Given the description of an element on the screen output the (x, y) to click on. 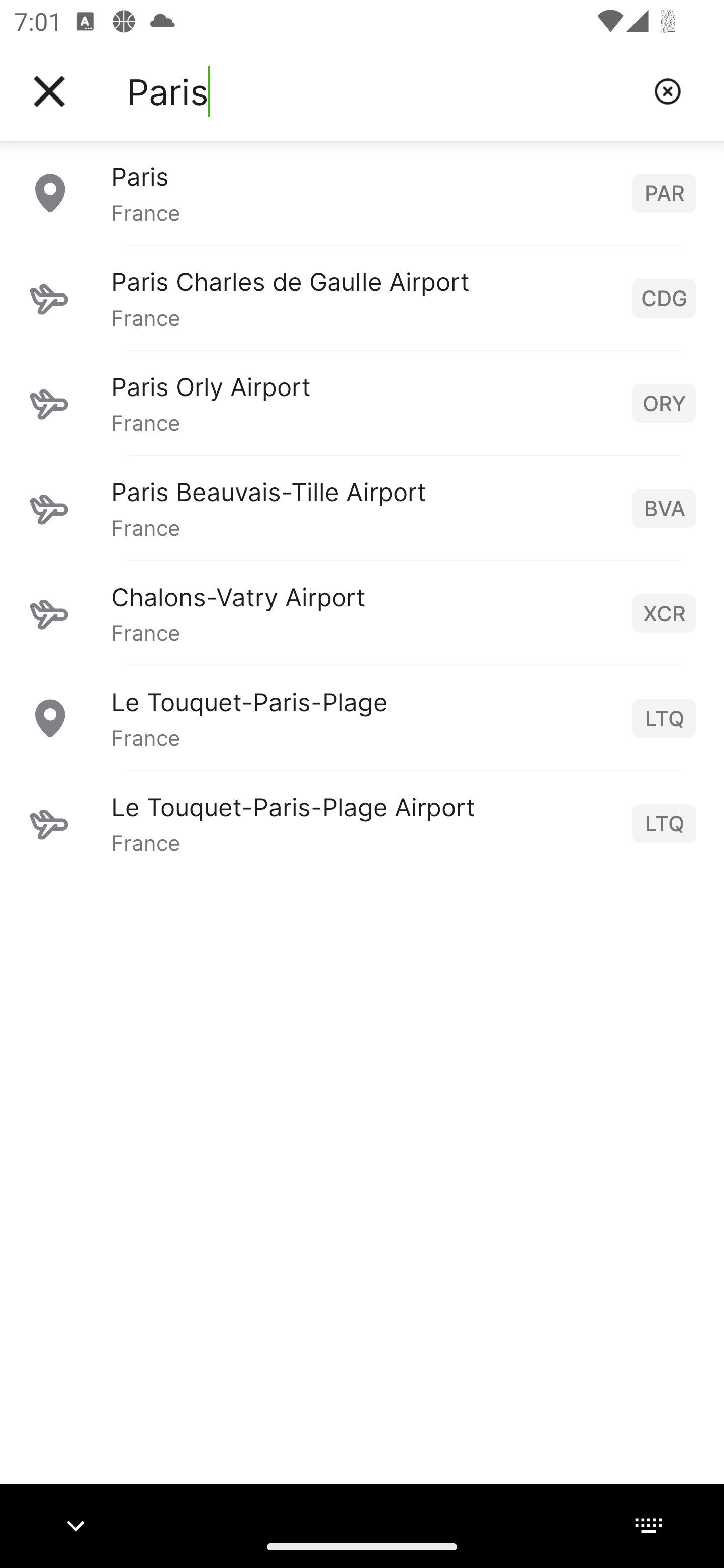
Paris (382, 91)
Paris France PAR (362, 192)
Paris Charles de Gaulle Airport France CDG (362, 297)
Paris Orly Airport France ORY (362, 402)
Paris Beauvais-Tille Airport France BVA (362, 507)
Chalons-Vatry Airport France XCR (362, 612)
Le Touquet-Paris-Plage France LTQ (362, 717)
Le Touquet-Paris-Plage Airport France LTQ (362, 822)
